Given the description of an element on the screen output the (x, y) to click on. 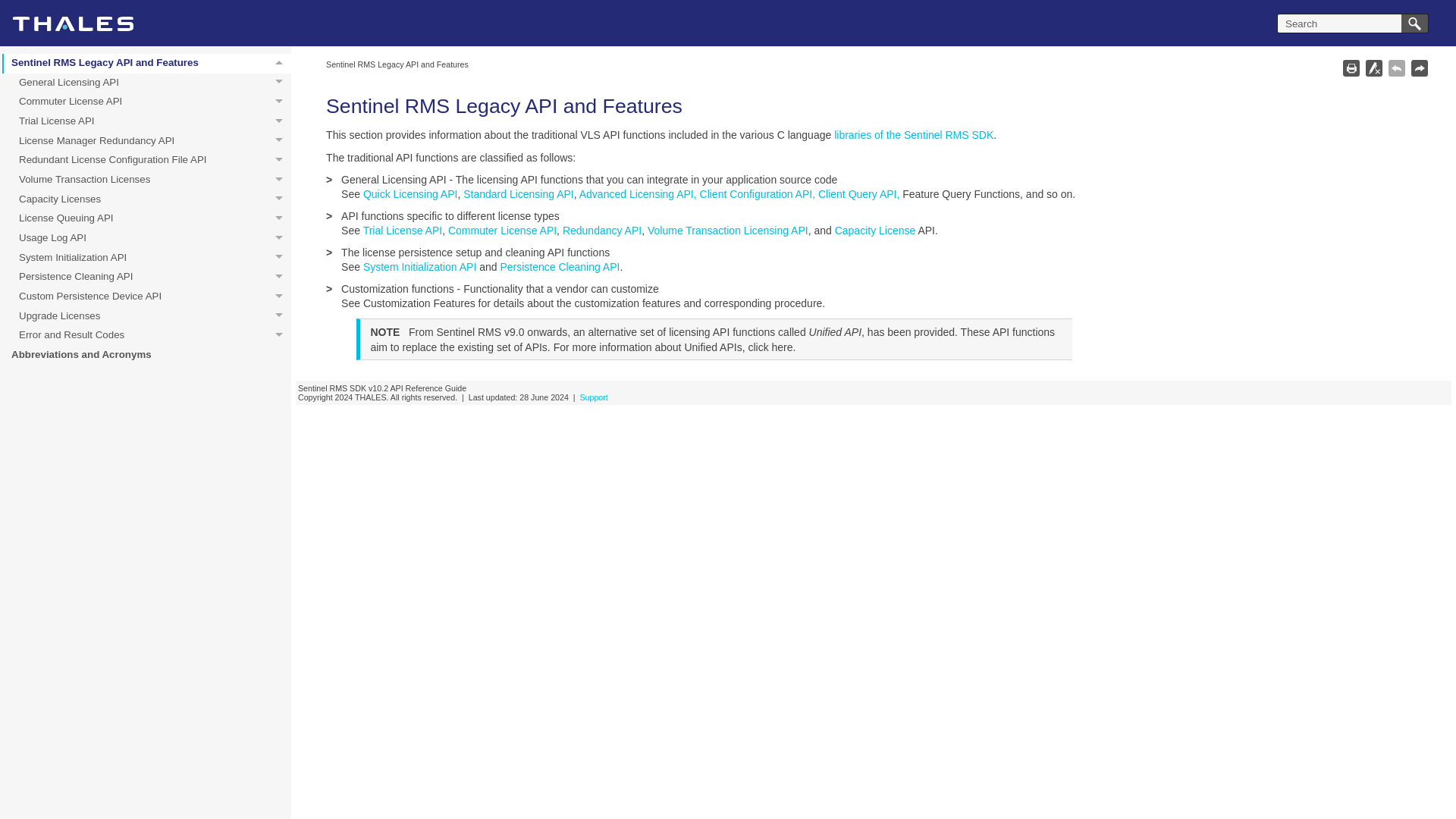
Navigate next (146, 83)
Search (1419, 67)
Navigate previous (146, 102)
Print (146, 219)
Remove Highlights (146, 121)
